Given the description of an element on the screen output the (x, y) to click on. 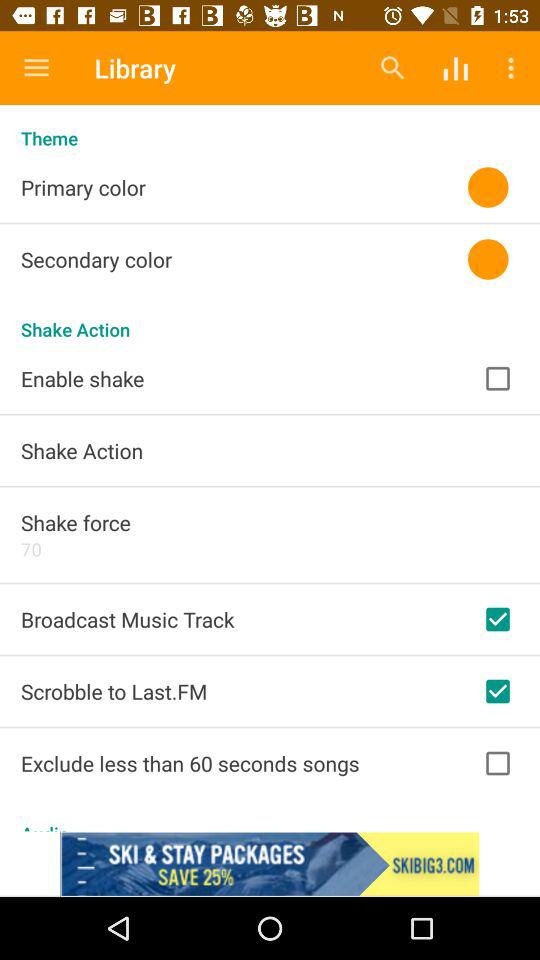
tap the checkbox which is just right to exclude less than 60 seconds songs (497, 764)
click on secondary color (53, 277)
click on search icon which is in the orange background (392, 68)
select the orange icon which is right to the text secondary color (488, 259)
